Given the description of an element on the screen output the (x, y) to click on. 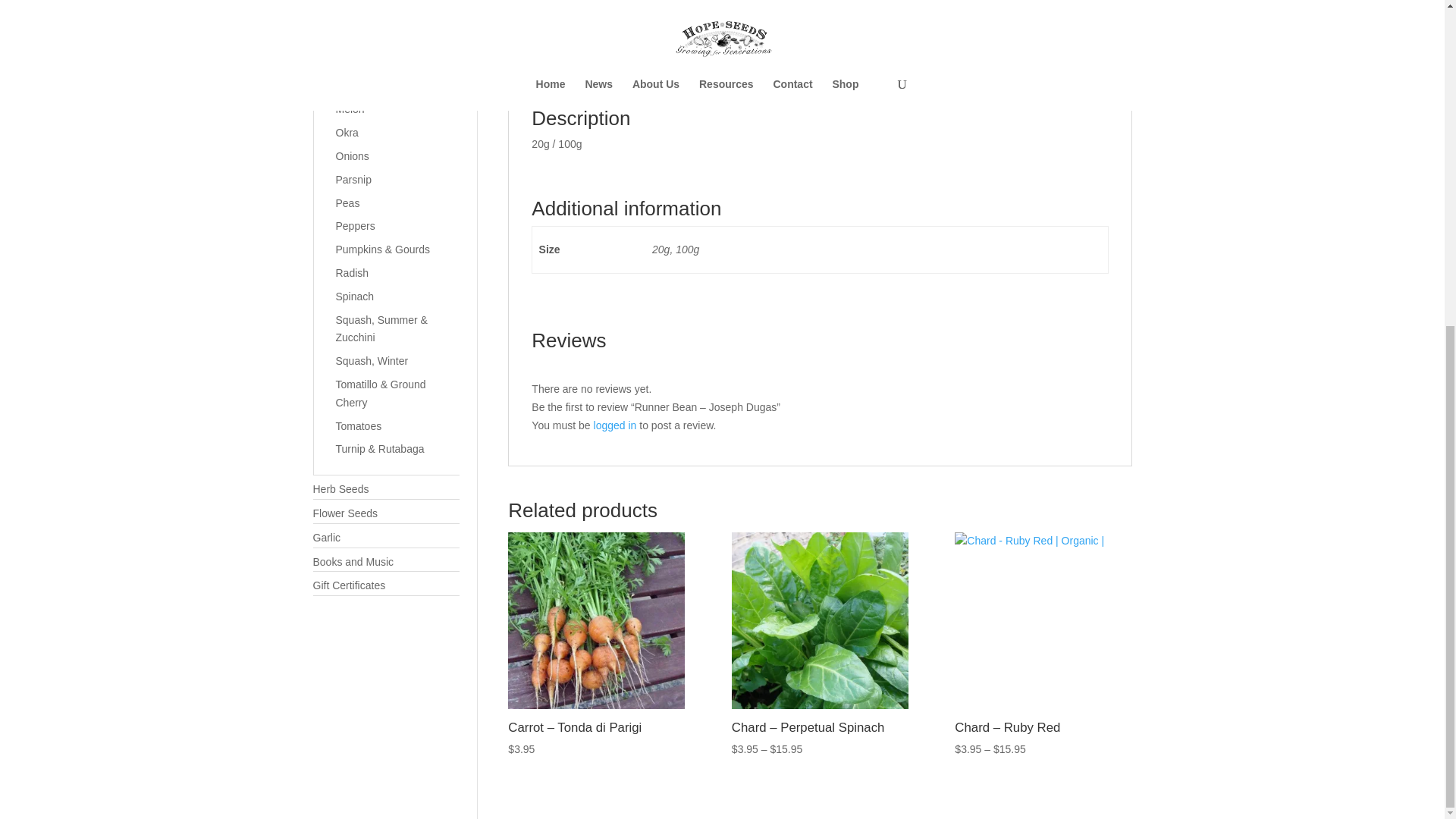
logged in (615, 425)
Additional information (672, 72)
Description (552, 72)
Vegetable Seeds (1014, 5)
Beans (952, 5)
